Given the description of an element on the screen output the (x, y) to click on. 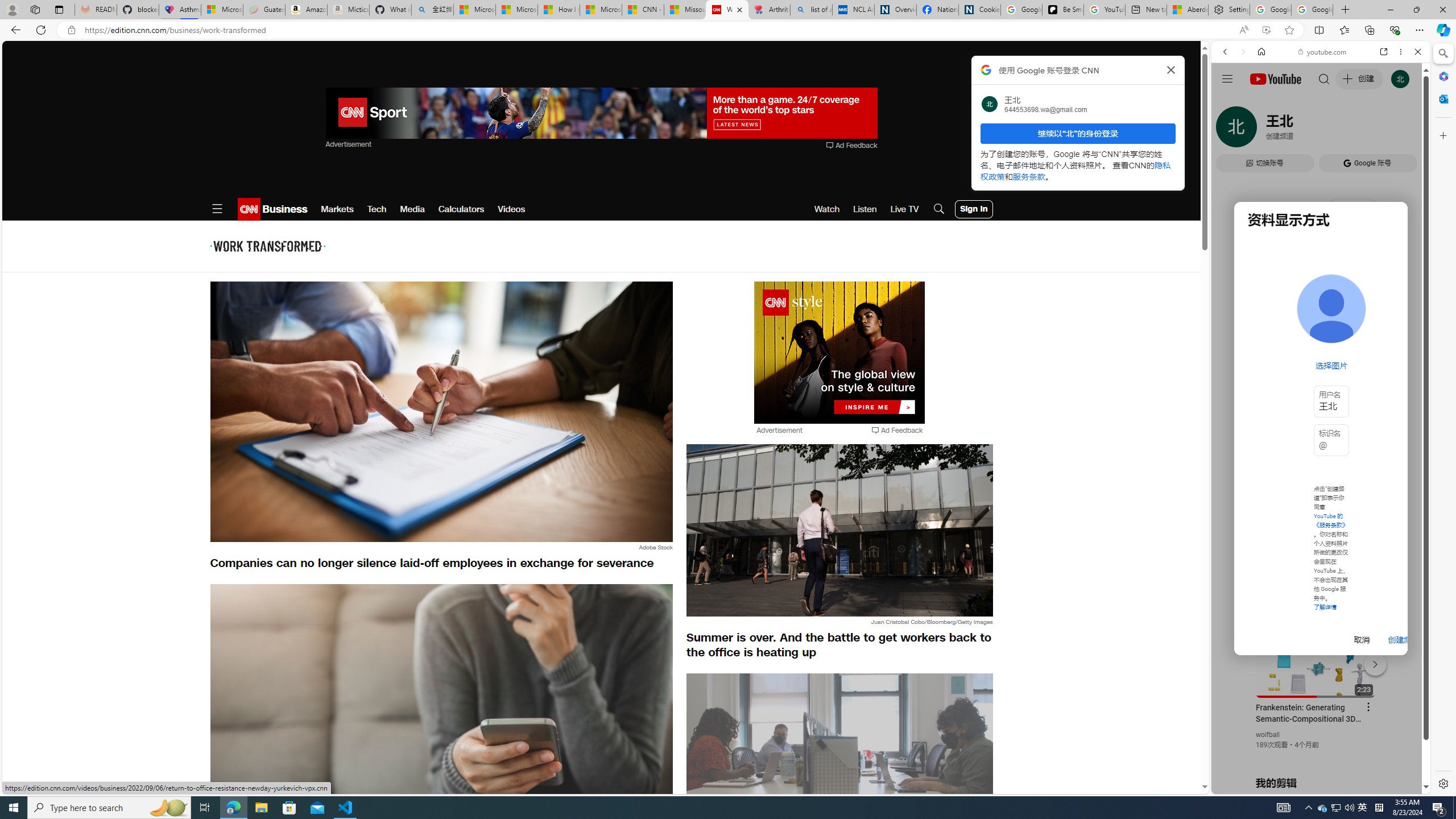
Work Transformed (266, 245)
Search Icon (938, 208)
WEB   (1230, 130)
Music (1320, 309)
Search the web (1326, 78)
Open Menu Icon (216, 208)
US[ju] (1249, 785)
